Given the description of an element on the screen output the (x, y) to click on. 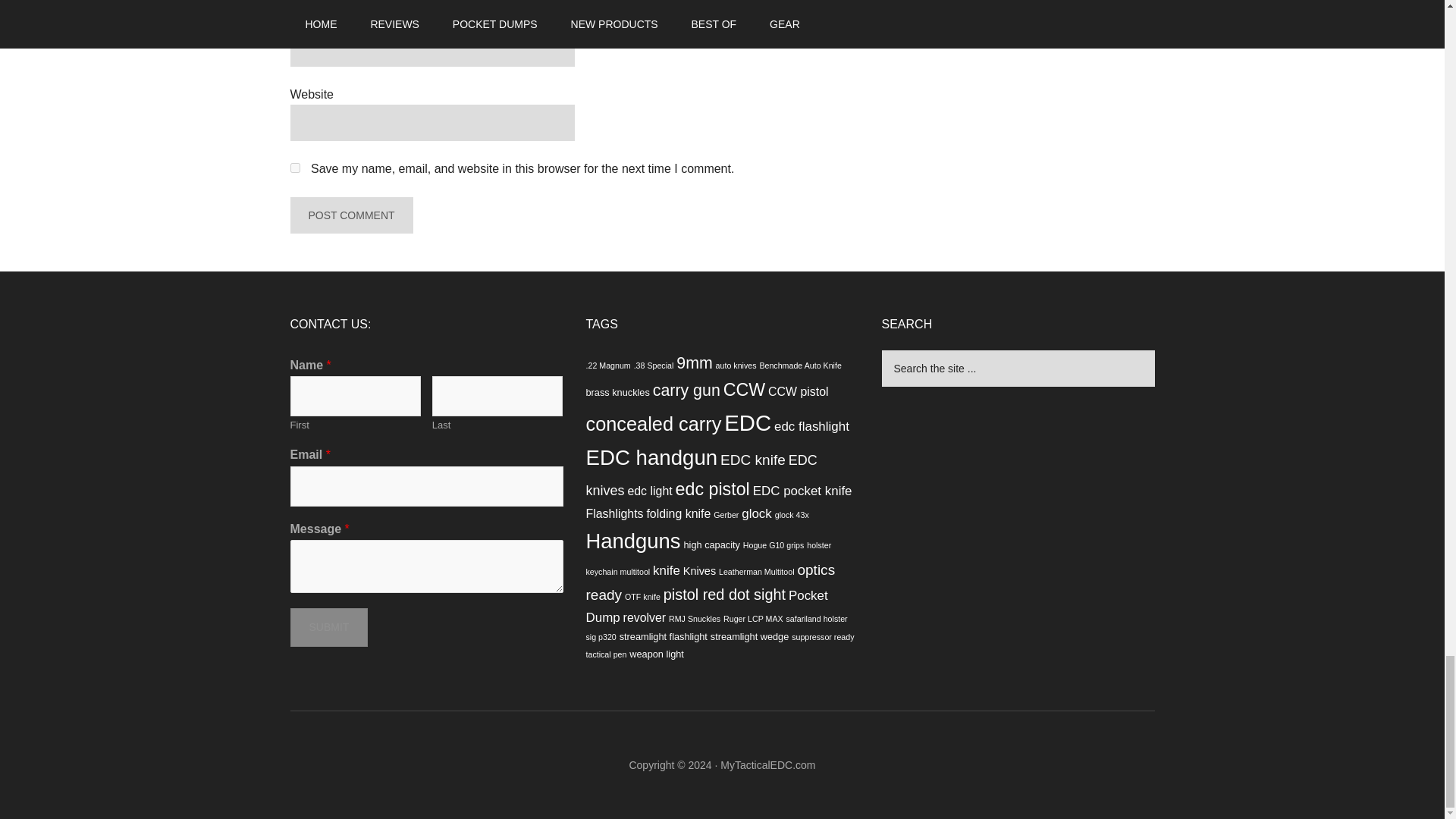
yes (294, 167)
Post Comment (350, 215)
Post Comment (350, 215)
